Given the description of an element on the screen output the (x, y) to click on. 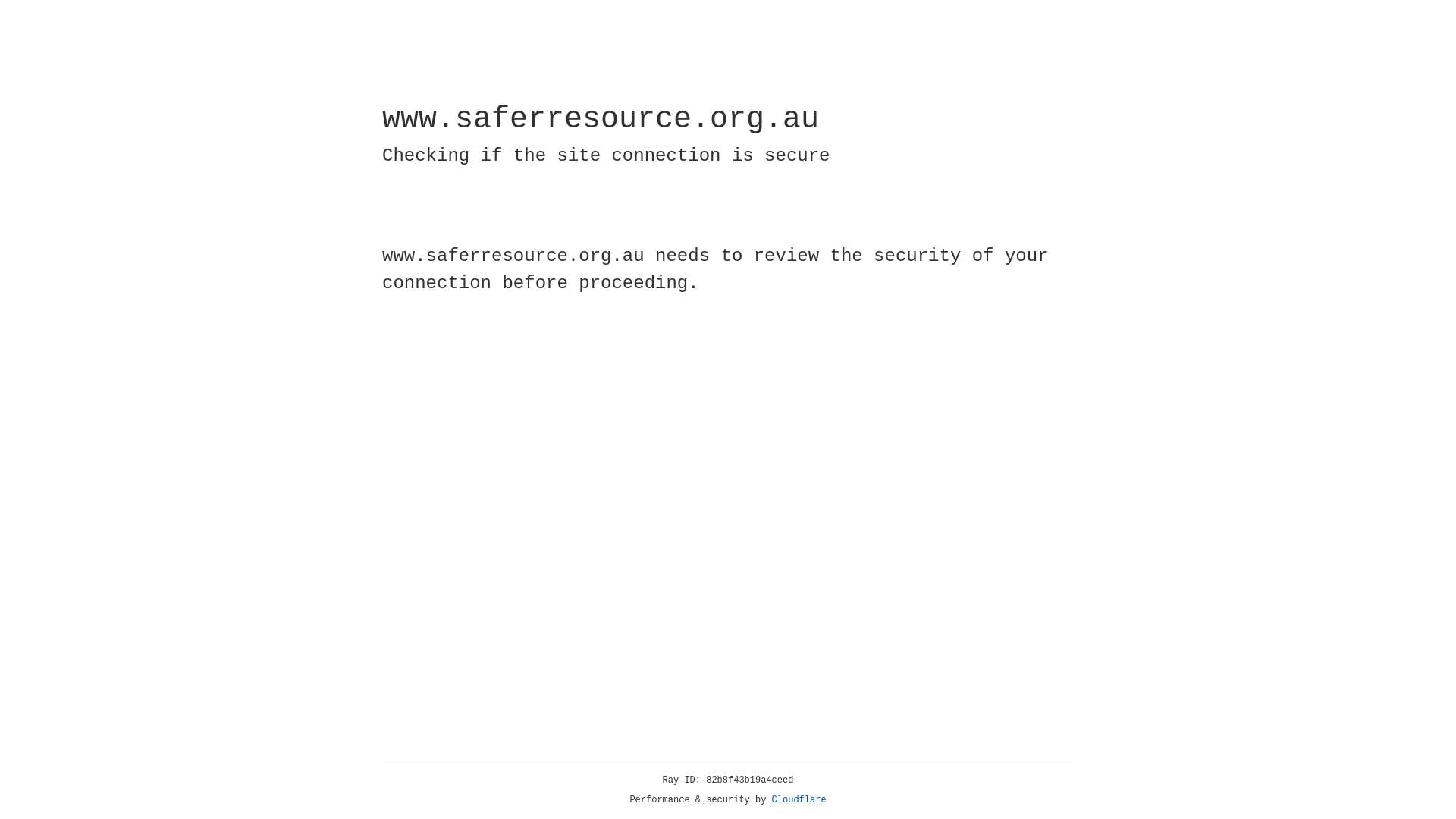
Cloudflare Element type: text (798, 799)
